Given the description of an element on the screen output the (x, y) to click on. 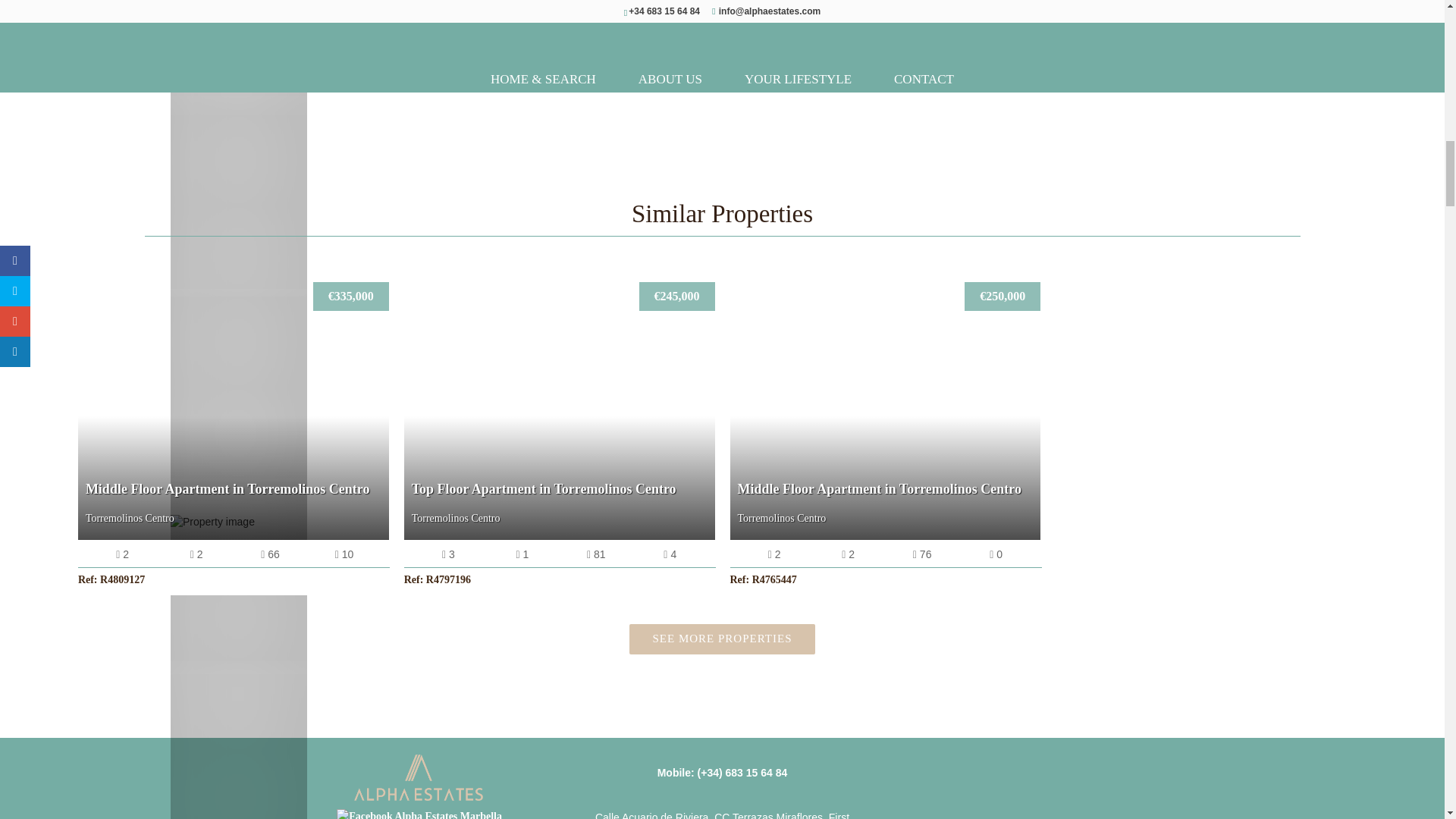
Built (269, 554)
Baths (195, 554)
Top Floor Apartment in Torremolinos Centro (559, 410)
Price (350, 296)
Baths (521, 554)
Middle Floor Apartment in Torremolinos Centro (233, 410)
Price (676, 296)
SEE MORE PROPERTIES (721, 638)
Beds (121, 554)
Built (343, 554)
